Given the description of an element on the screen output the (x, y) to click on. 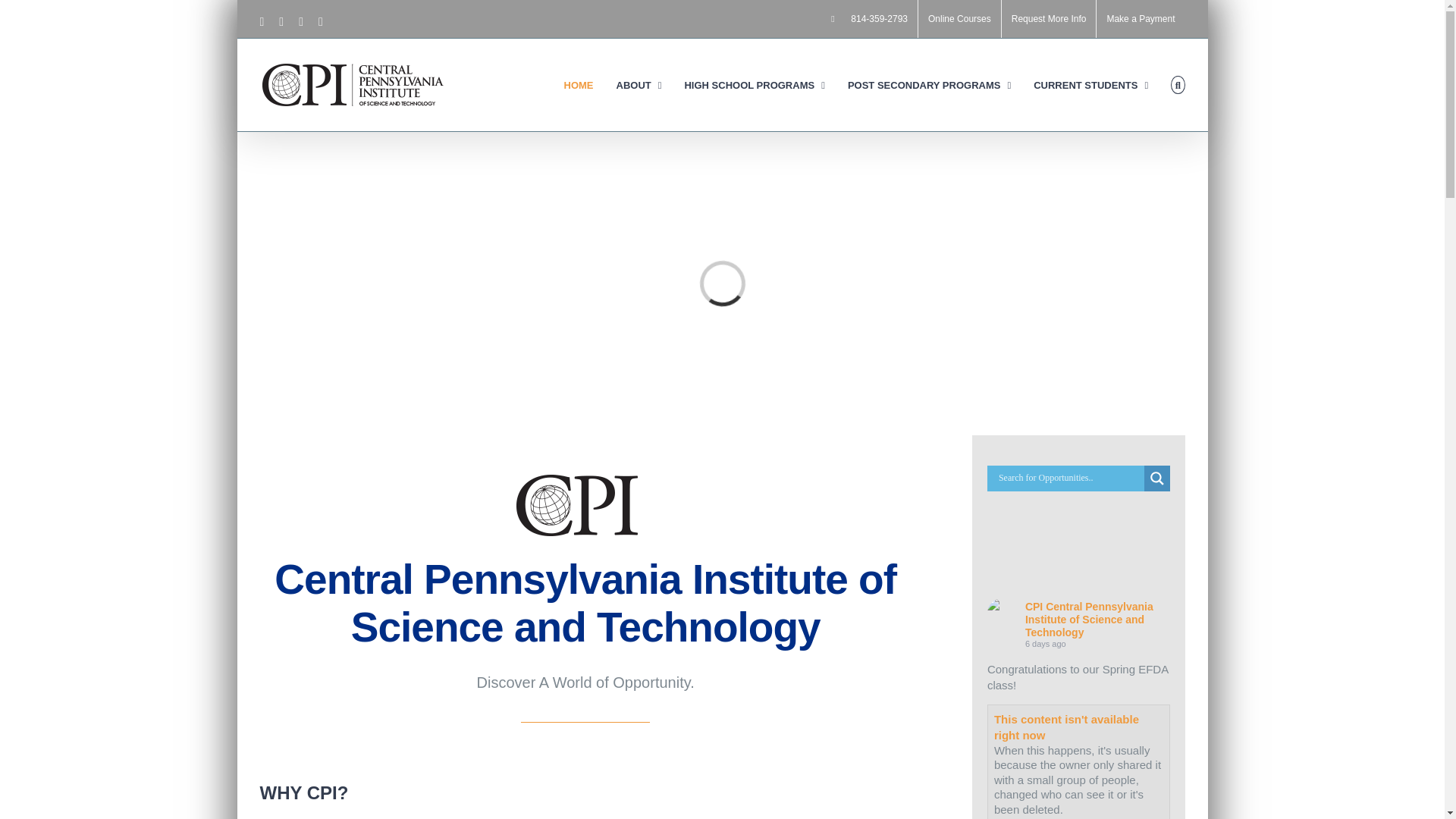
Online Courses (959, 18)
Facebook Like Box widget (1078, 553)
Request More Info (1048, 18)
HIGH SCHOOL PROGRAMS (754, 84)
CURRENT STUDENTS (1090, 84)
Make a Payment (1140, 18)
814-359-2793 (869, 18)
POST SECONDARY PROGRAMS (928, 84)
